Given the description of an element on the screen output the (x, y) to click on. 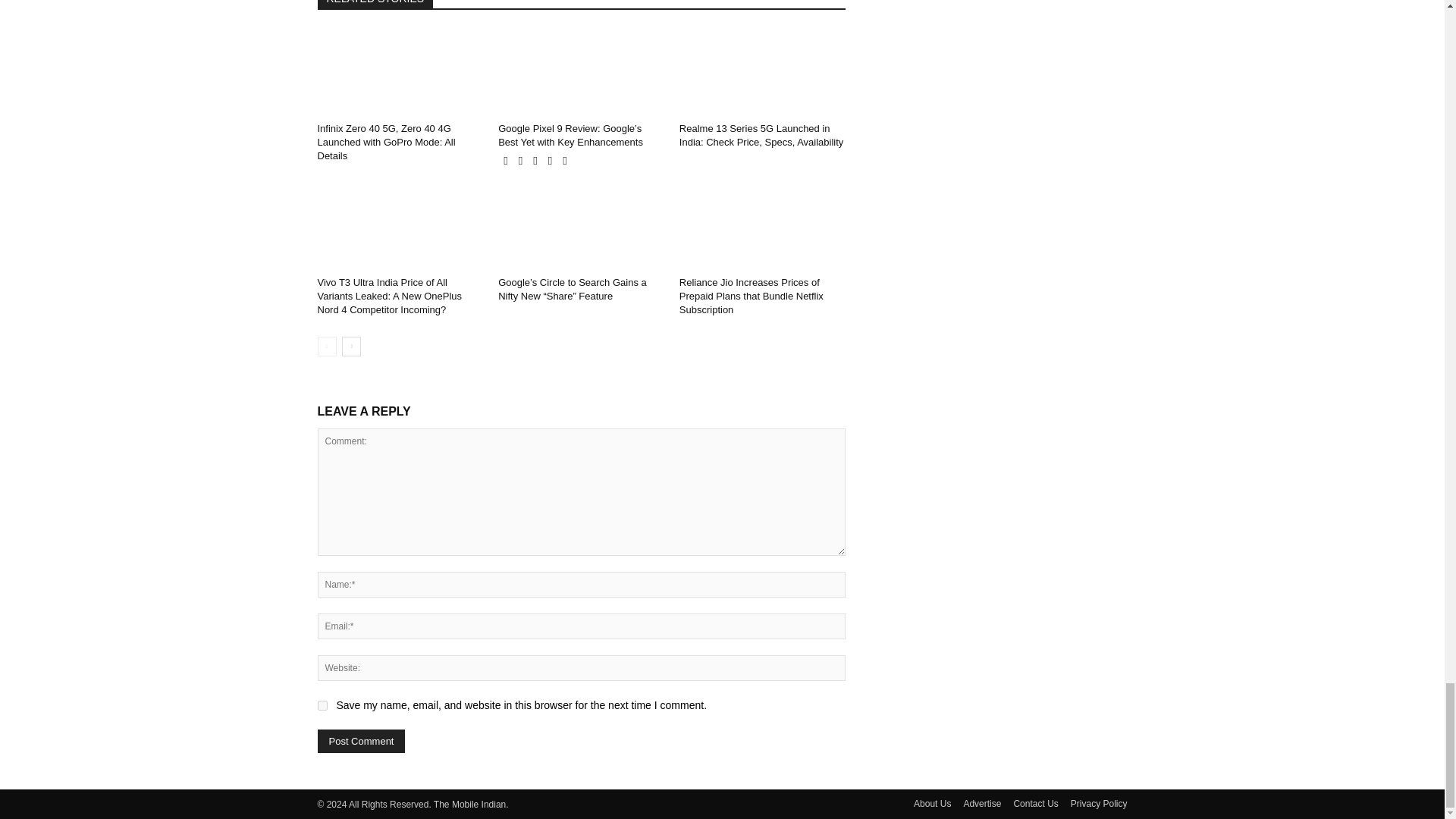
yes (321, 705)
Post Comment (360, 740)
